Given the description of an element on the screen output the (x, y) to click on. 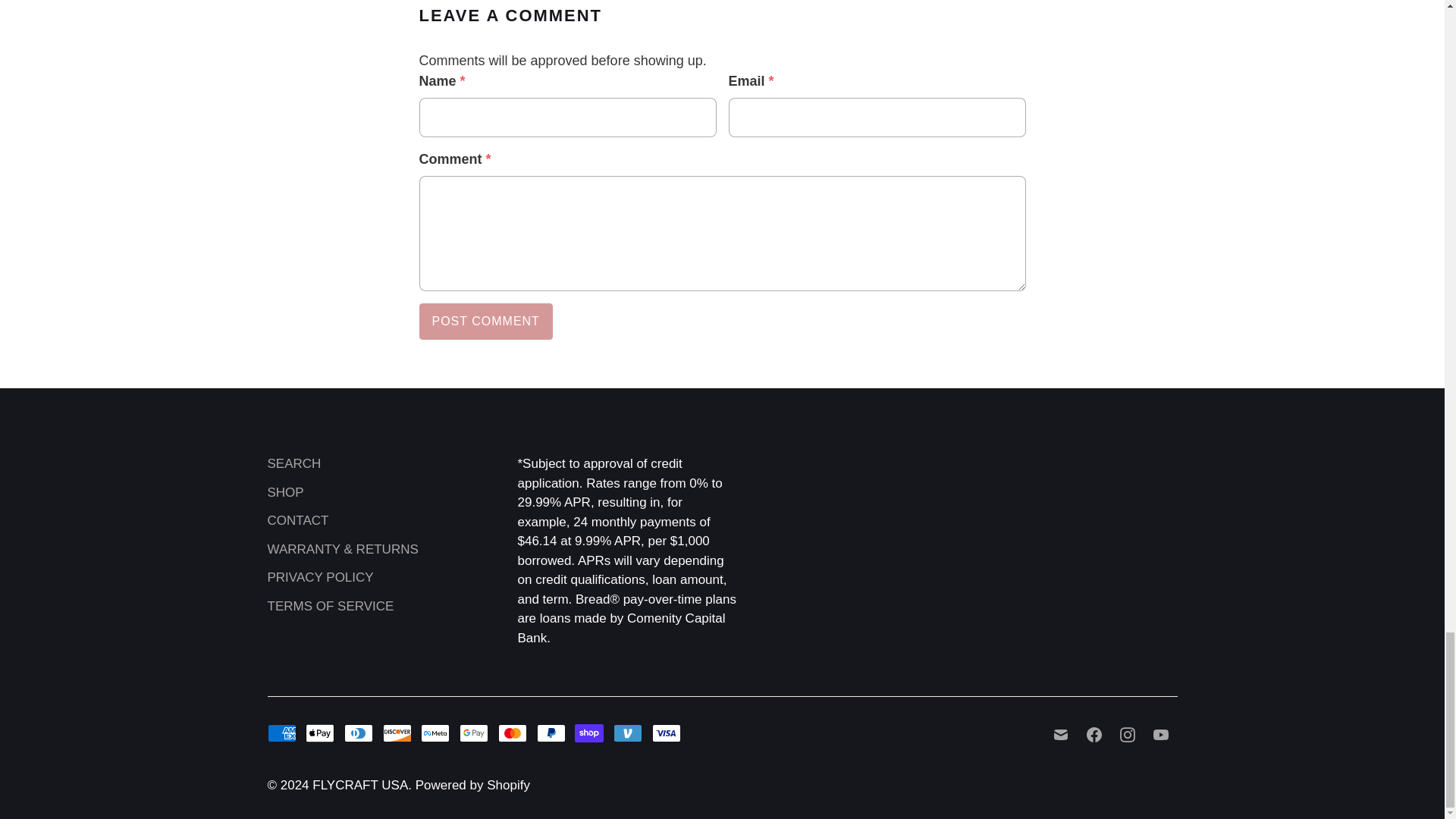
Diners Club (357, 732)
Meta Pay (434, 732)
Apple Pay (319, 732)
Post comment (485, 321)
Mastercard (512, 732)
PayPal (551, 732)
American Express (280, 732)
Google Pay (473, 732)
Discover (397, 732)
